Given the description of an element on the screen output the (x, y) to click on. 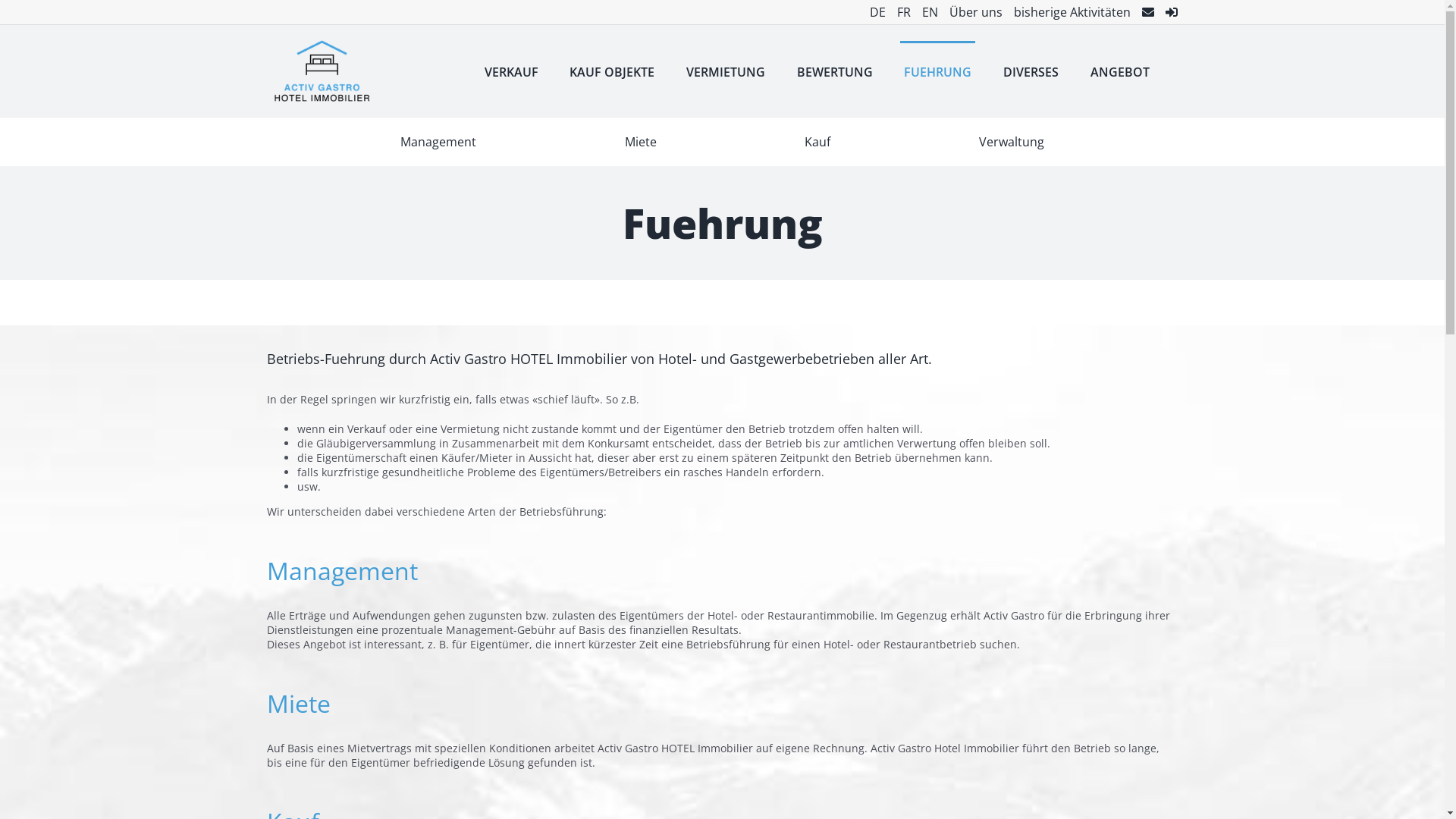
KAUF OBJEKTE Element type: text (611, 70)
Verwaltung Element type: text (1011, 141)
DIVERSES Element type: text (1030, 70)
FUEHRUNG Element type: text (937, 70)
EN Element type: text (924, 12)
FR Element type: text (897, 12)
VERKAUF Element type: text (511, 70)
DE Element type: text (871, 12)
Kauf Element type: text (817, 141)
VERMIETUNG Element type: text (725, 70)
ANGEBOT Element type: text (1119, 70)
Miete Element type: text (640, 141)
BEWERTUNG Element type: text (834, 70)
Management Element type: text (438, 141)
